Given the description of an element on the screen output the (x, y) to click on. 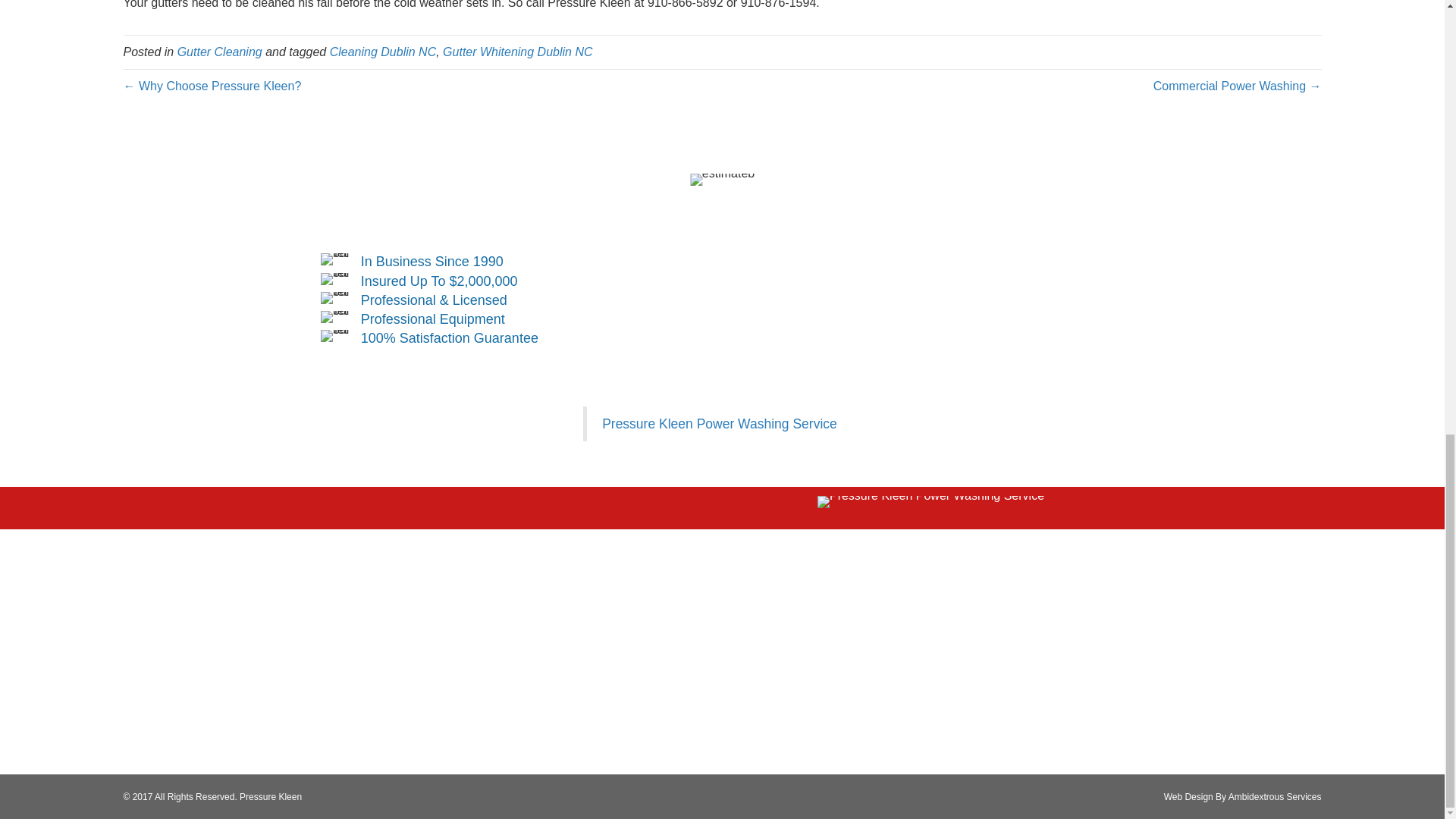
About Us (435, 597)
Pressure Kleen Power Washing Service (929, 501)
Residential (381, 597)
Cleaning Dublin NC (383, 51)
Home (331, 597)
Pressure Kleen Power Washing Service (719, 423)
Gutter Whitening Dublin NC (517, 51)
Gutter Cleaning (219, 51)
